Given the description of an element on the screen output the (x, y) to click on. 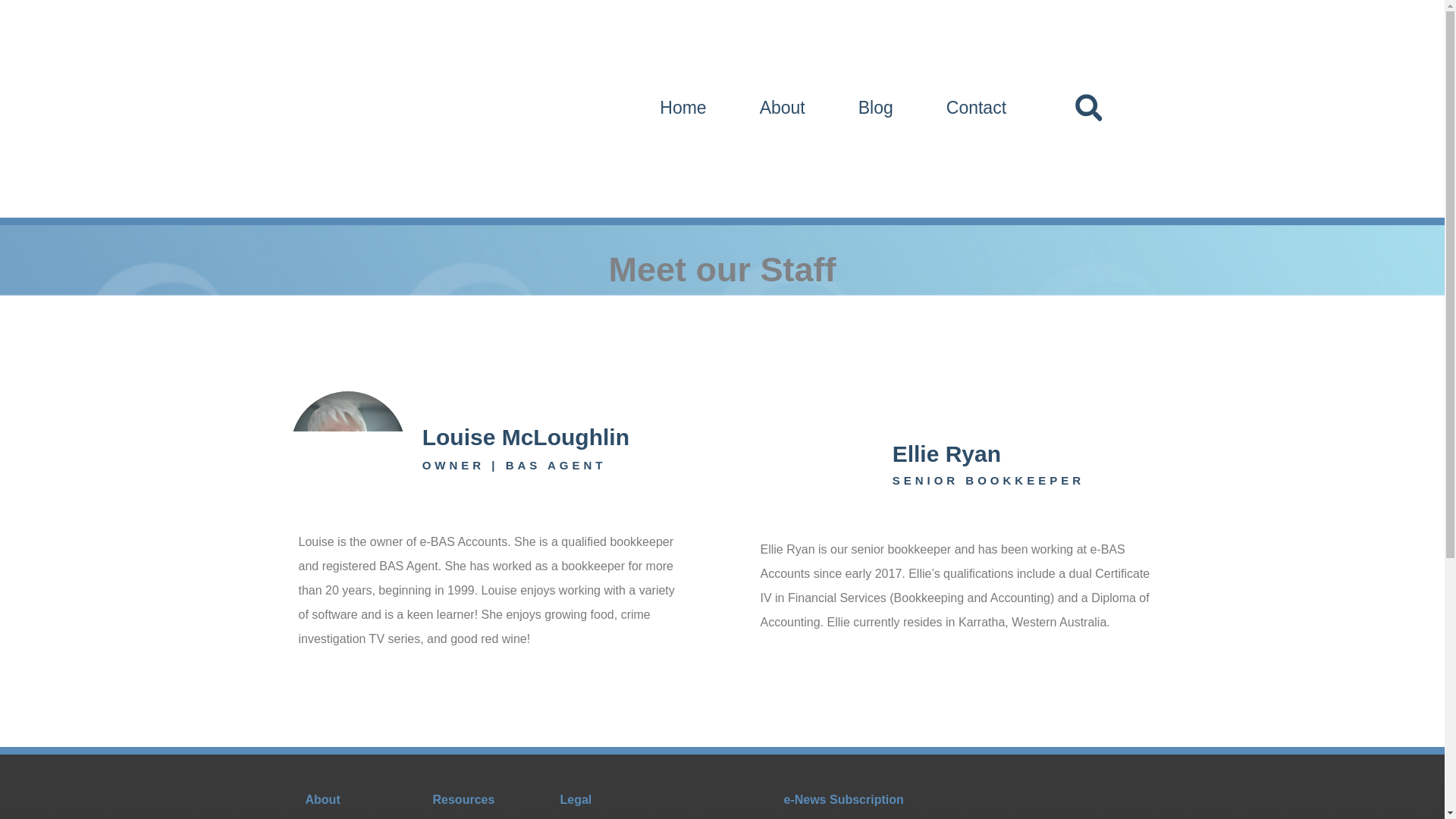
Home (682, 107)
Contact (976, 107)
About (782, 107)
Blog (875, 107)
